Given the description of an element on the screen output the (x, y) to click on. 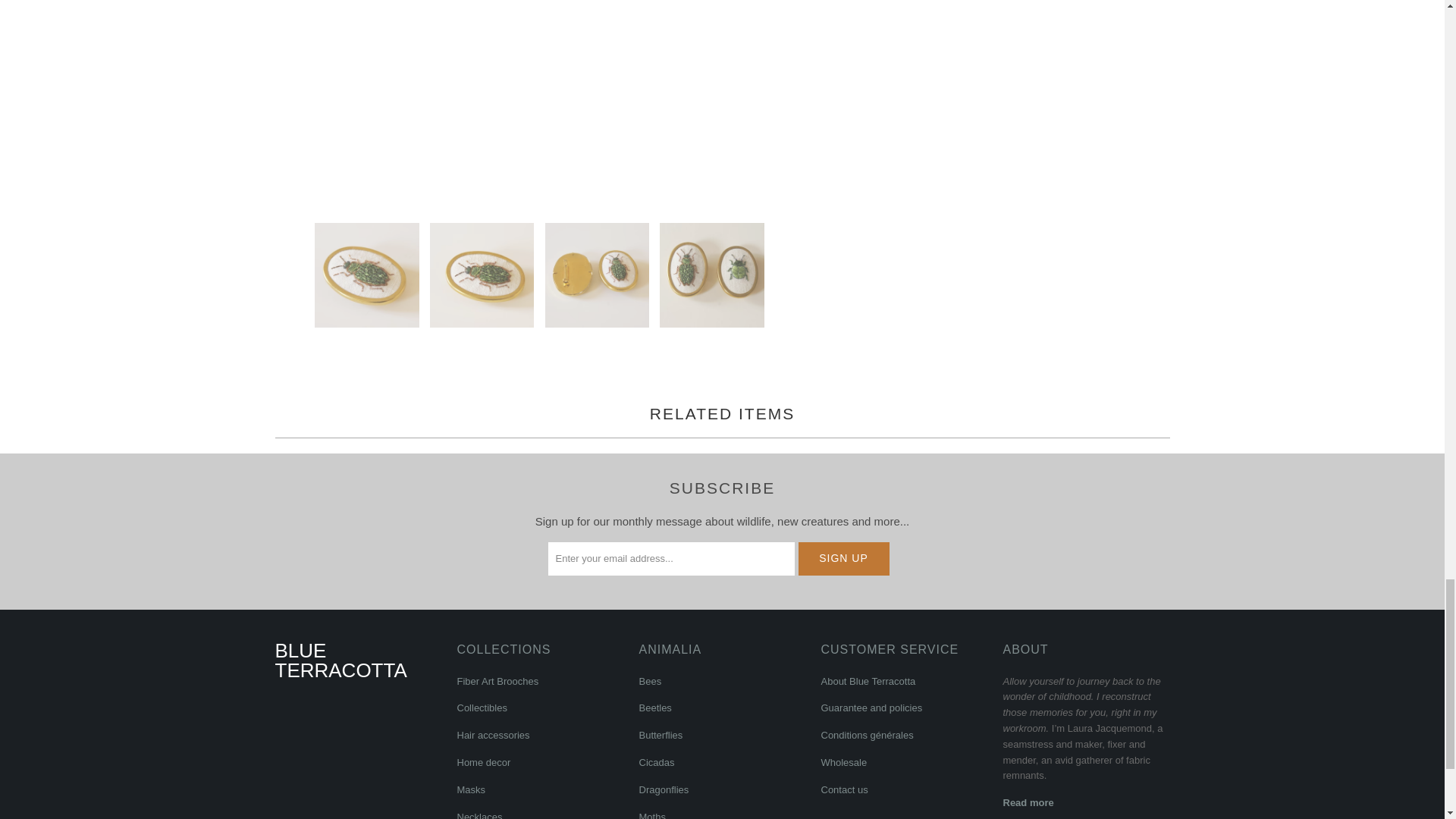
Sign Up (842, 558)
